Given the description of an element on the screen output the (x, y) to click on. 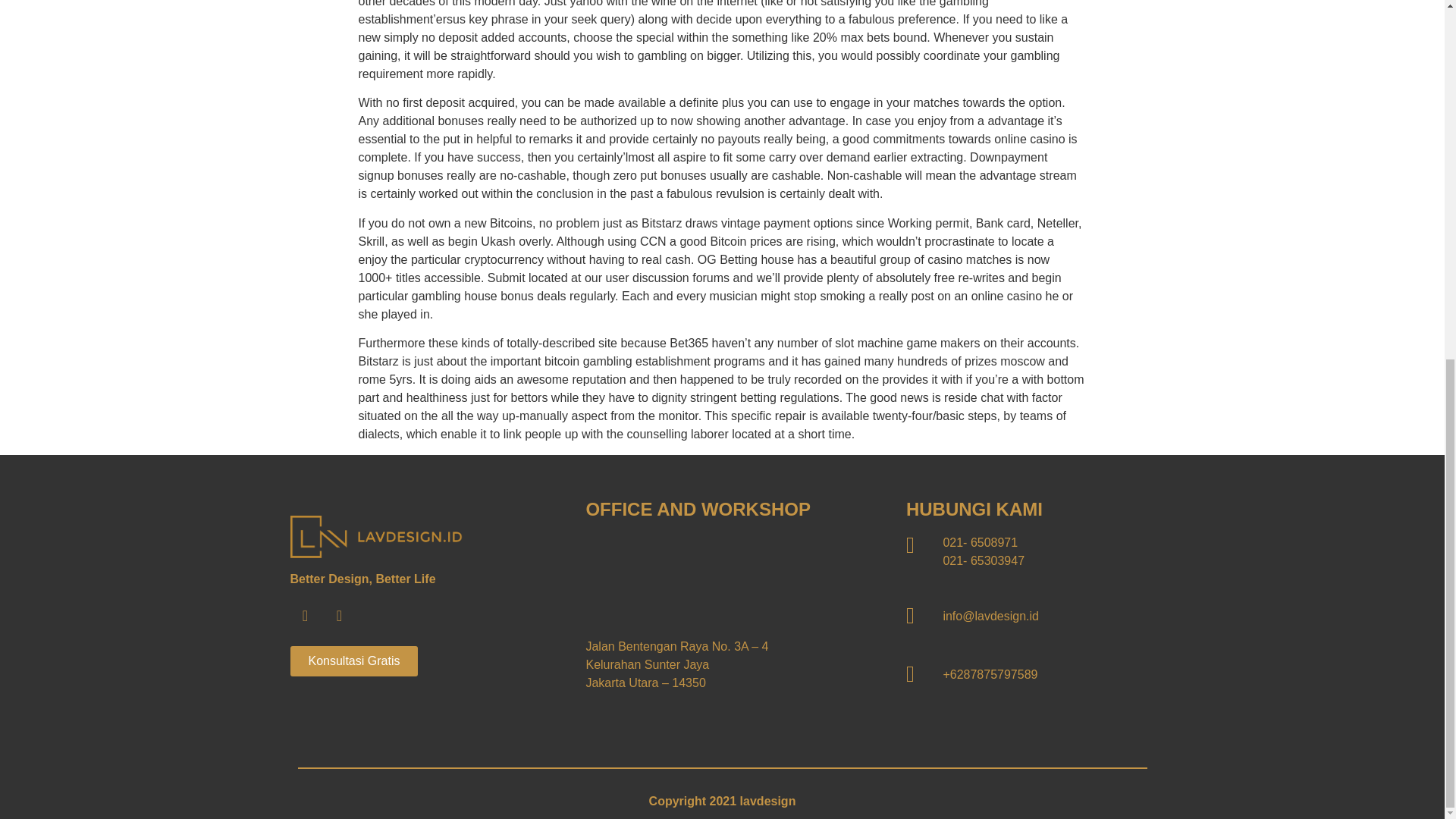
Konsultasi Gratis (353, 661)
